Given the description of an element on the screen output the (x, y) to click on. 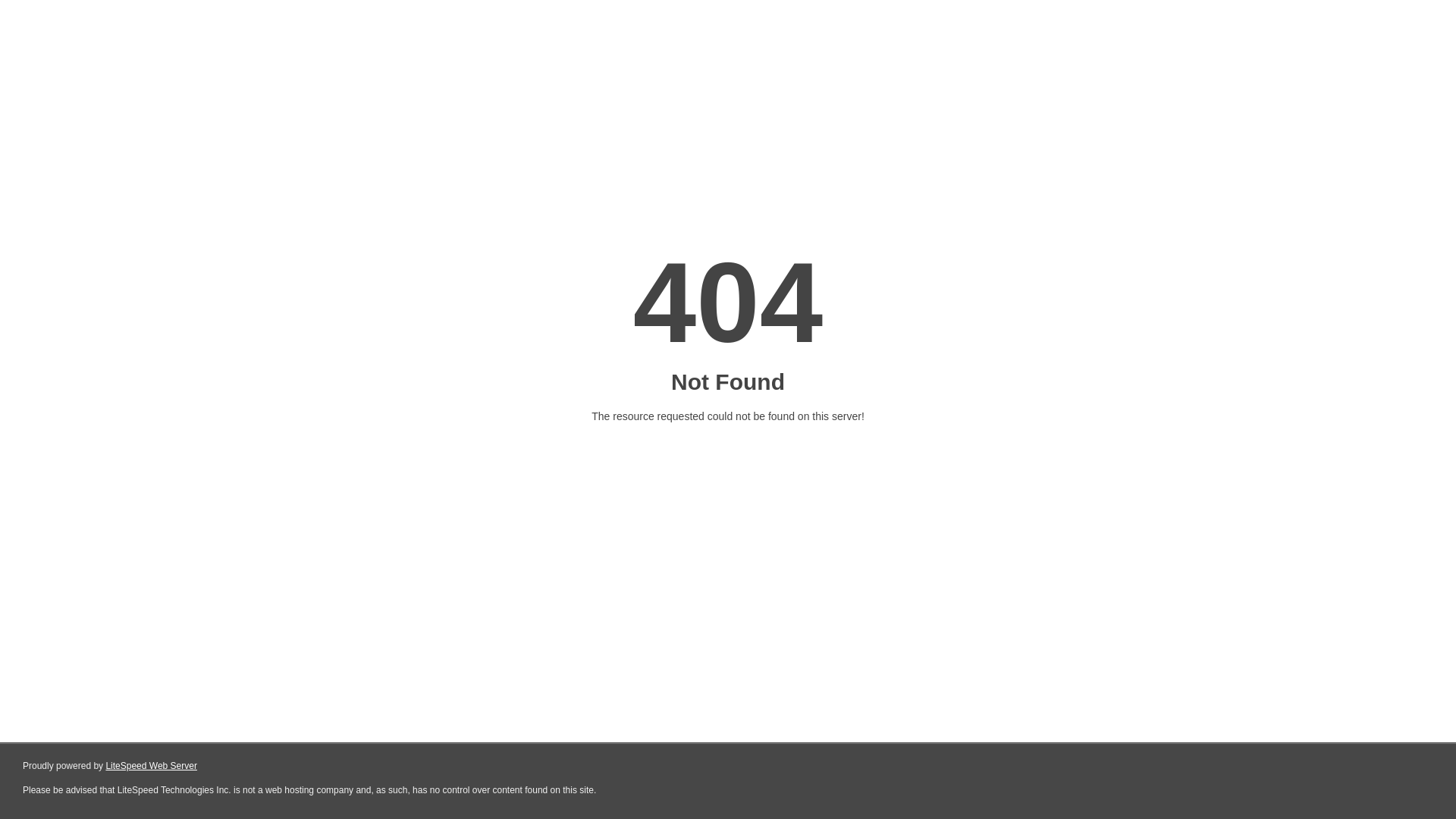
LiteSpeed Web Server Element type: text (151, 765)
